Given the description of an element on the screen output the (x, y) to click on. 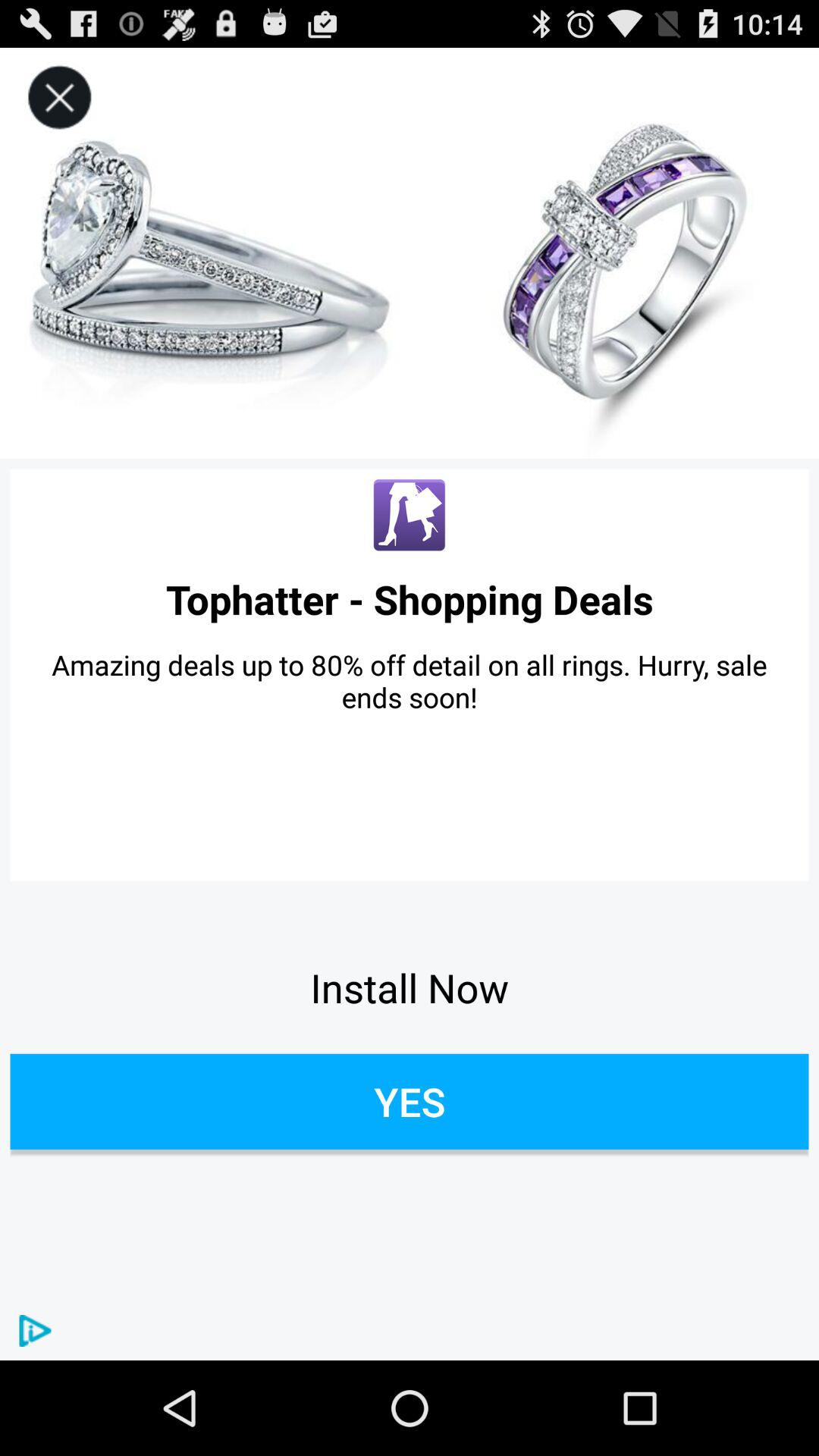
turn off amazing deals up icon (409, 680)
